Given the description of an element on the screen output the (x, y) to click on. 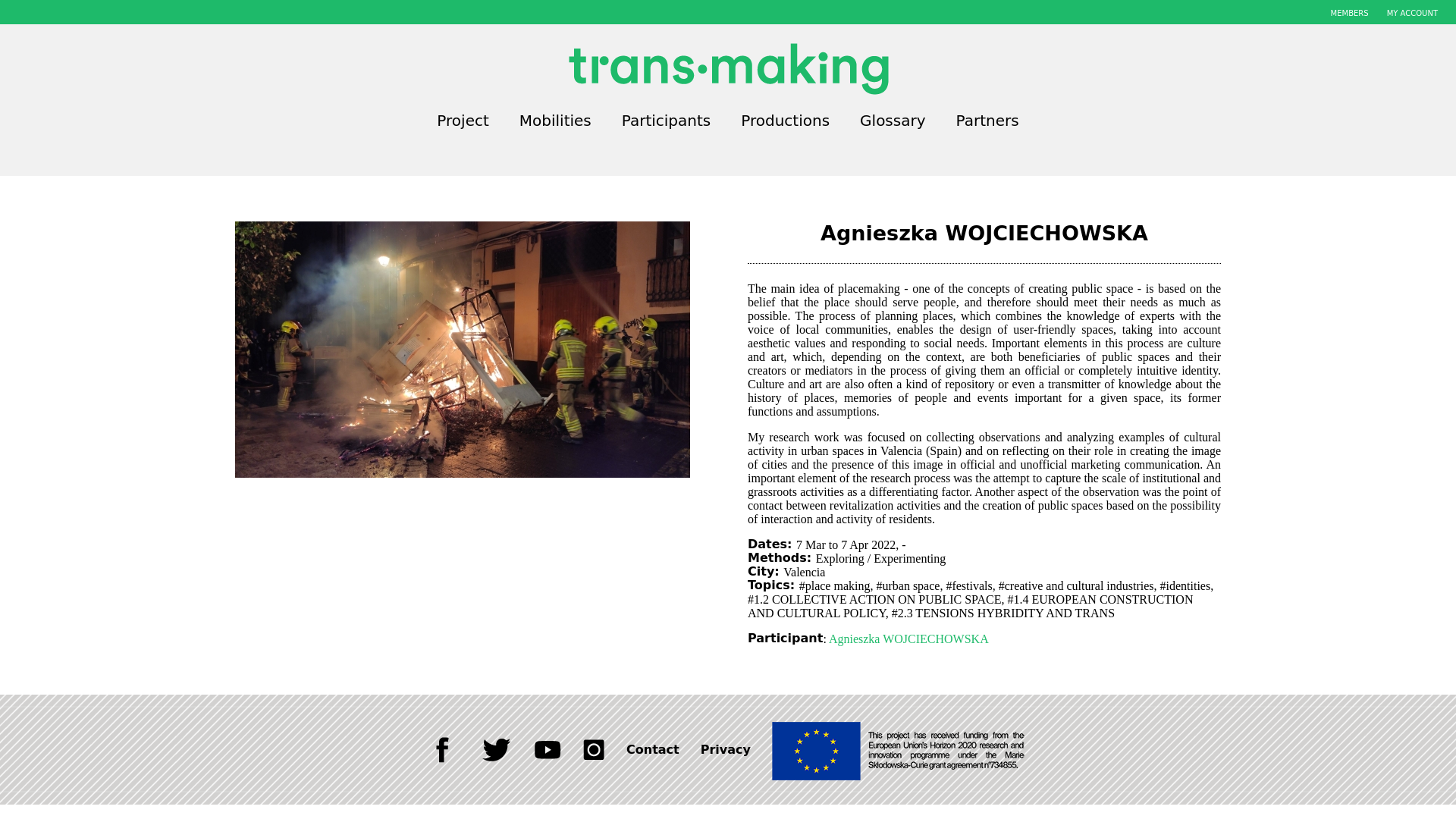
Twitter (496, 749)
Instagram (593, 749)
Horizon 2020 (900, 749)
Agnieszka WOJCIECHOWSKA (908, 638)
Privacy (725, 749)
MY ACCOUNT (1412, 13)
Glossary (892, 120)
Project (462, 120)
Participants (666, 120)
Partners (986, 120)
